Given the description of an element on the screen output the (x, y) to click on. 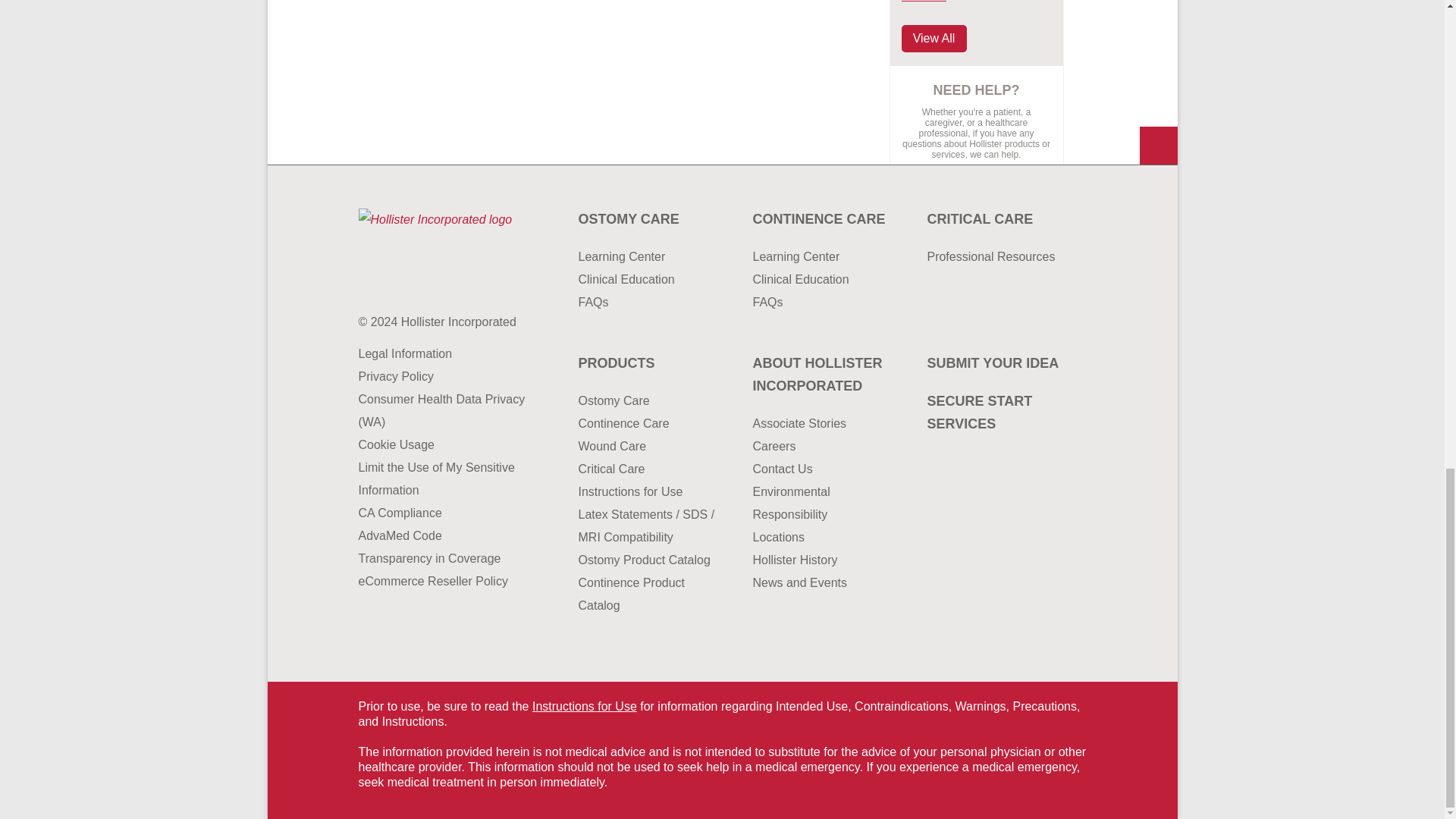
AdvaMed Code (441, 535)
Ostomy Learning Center (650, 256)
Hollister Careers (824, 445)
Privacy Notice (441, 376)
Continence Care Learning Center (824, 256)
Hollister History (824, 559)
Continence Care (824, 219)
Hollister Locations (824, 537)
Professional Resources (998, 256)
Cookie Usage (441, 445)
Ostomy Care (650, 219)
Critical Care (998, 219)
